Given the description of an element on the screen output the (x, y) to click on. 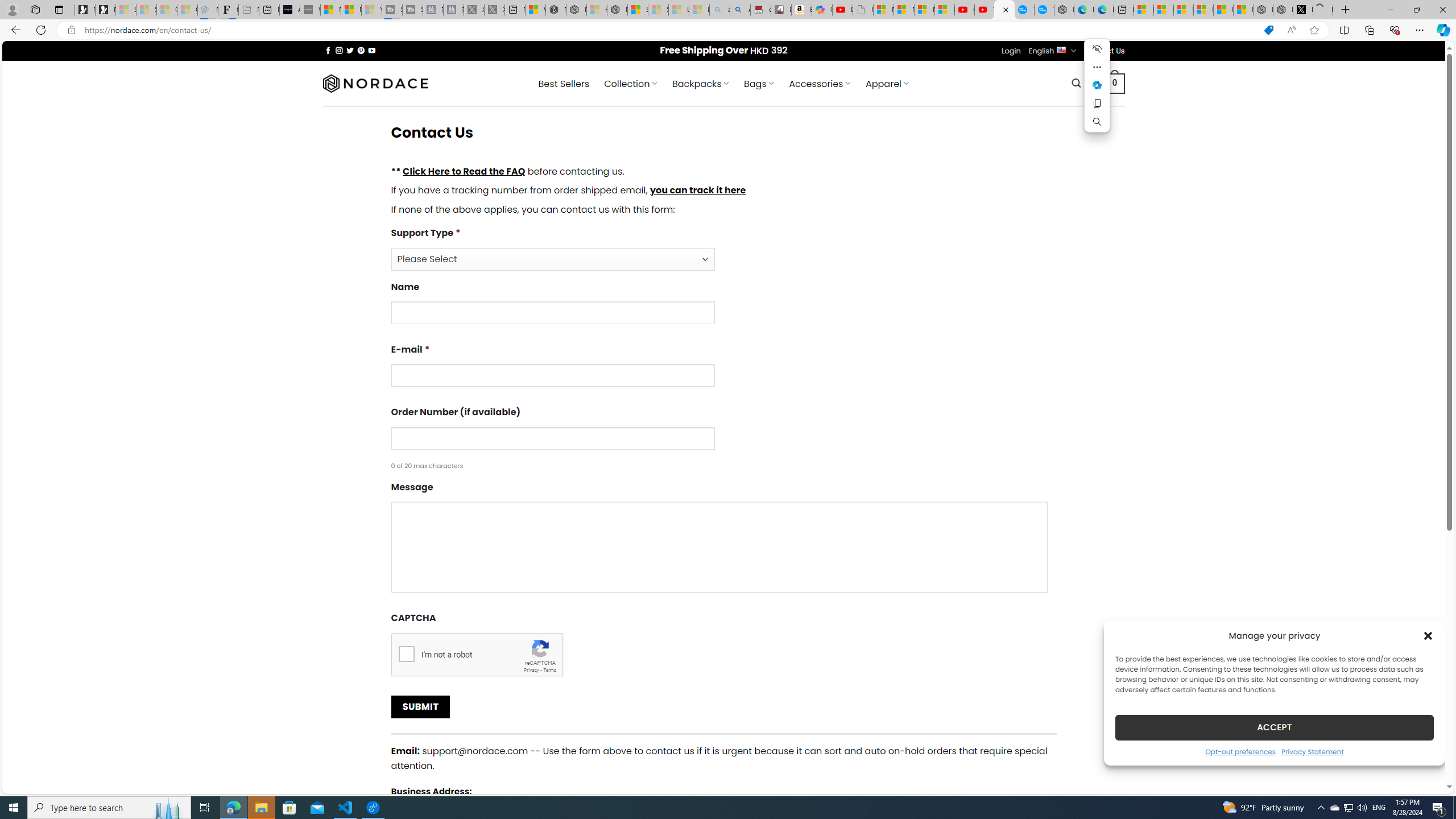
Untitled (1322, 9)
Mini menu on text selection (1096, 84)
Copy (1096, 103)
Name (723, 306)
Nordace (@NordaceOfficial) / X (1302, 9)
Message (719, 546)
Submit (419, 707)
